Given the description of an element on the screen output the (x, y) to click on. 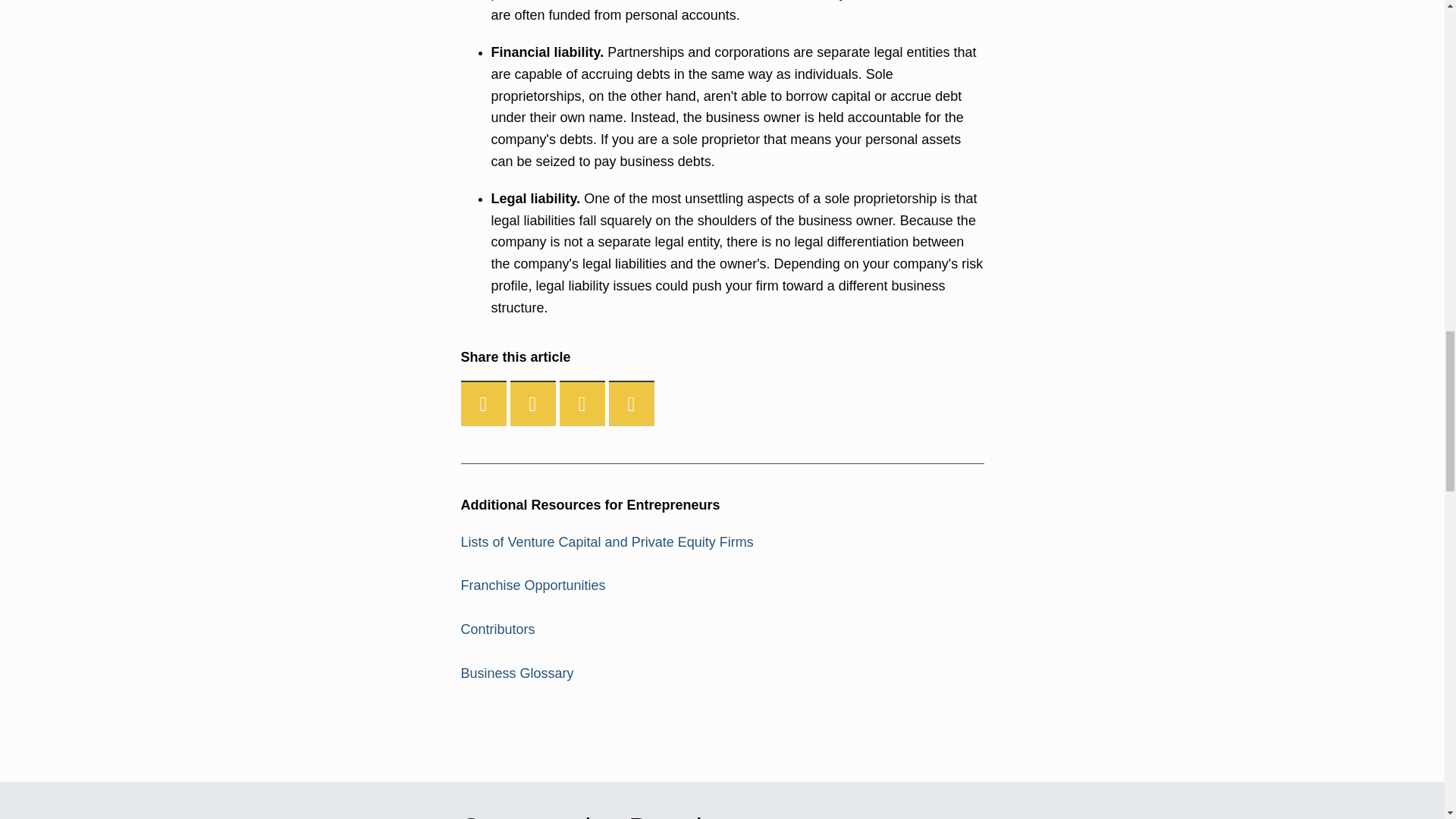
Linkedin (582, 403)
Facebook (483, 403)
Email (630, 403)
Twitter (533, 403)
